Given the description of an element on the screen output the (x, y) to click on. 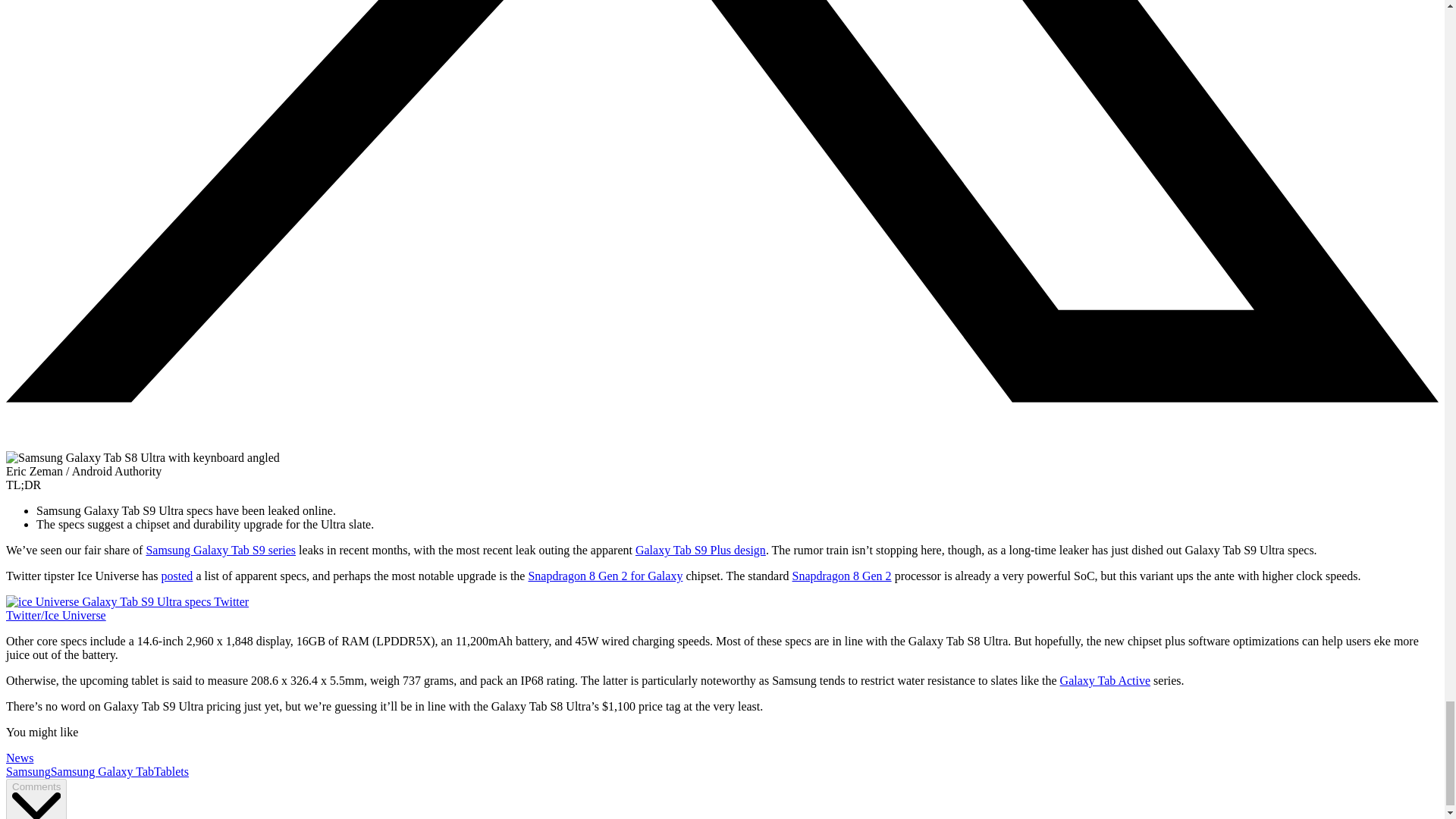
Tablets (171, 771)
ice Universe Galaxy Tab S9 Ultra specs Twitter (126, 602)
Galaxy Tab S9 Plus design (699, 549)
Samsung Galaxy Tab S9 series (220, 549)
Samsung (27, 771)
News (19, 757)
posted (177, 575)
Samsung Galaxy Tab (102, 771)
Samsung Galaxy Tab S8 Ultra with keynboard angled (142, 458)
Snapdragon 8 Gen 2 (841, 575)
